Given the description of an element on the screen output the (x, y) to click on. 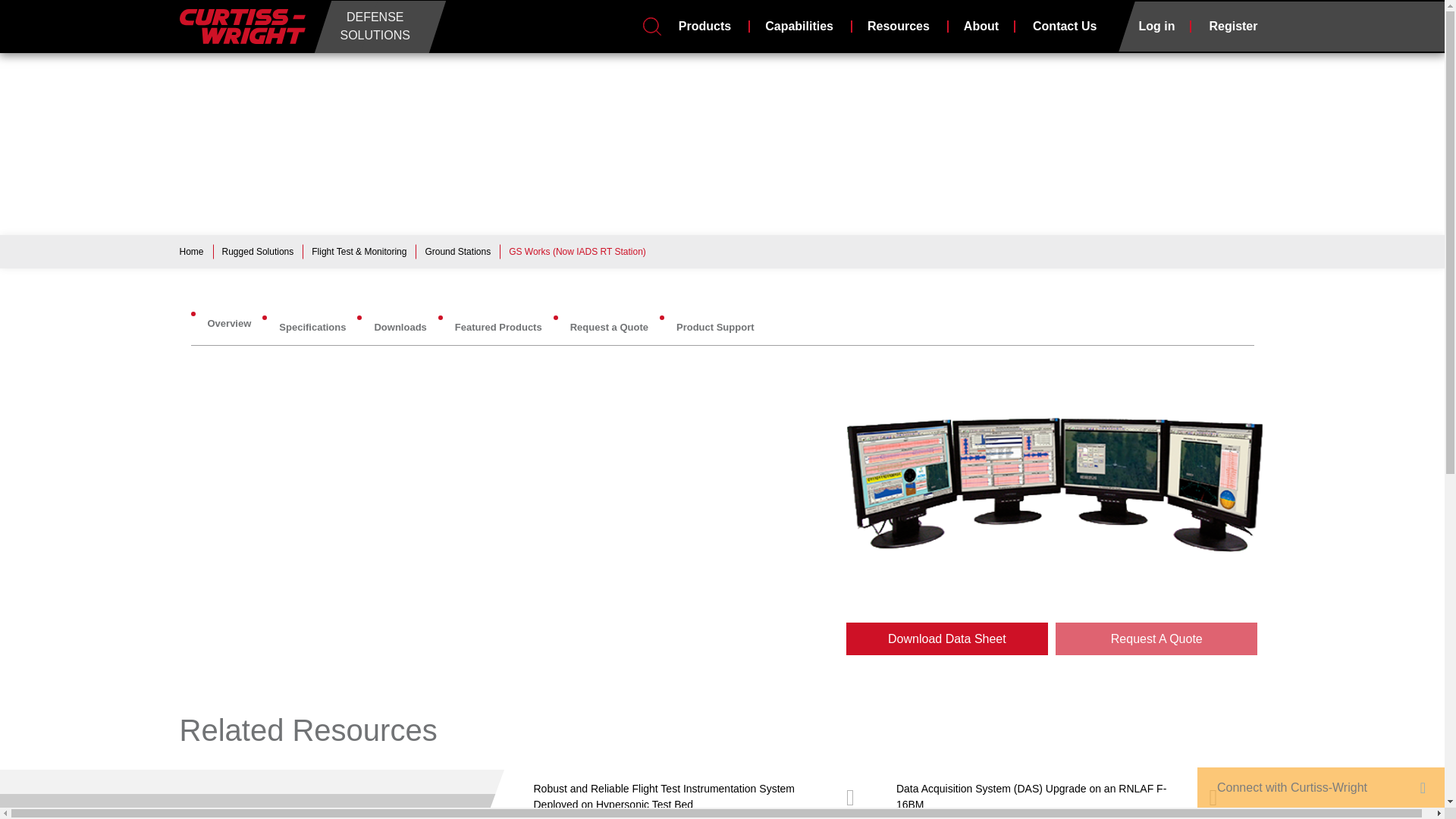
Products (704, 26)
Search (651, 26)
Home (241, 26)
Products (704, 26)
